Given the description of an element on the screen output the (x, y) to click on. 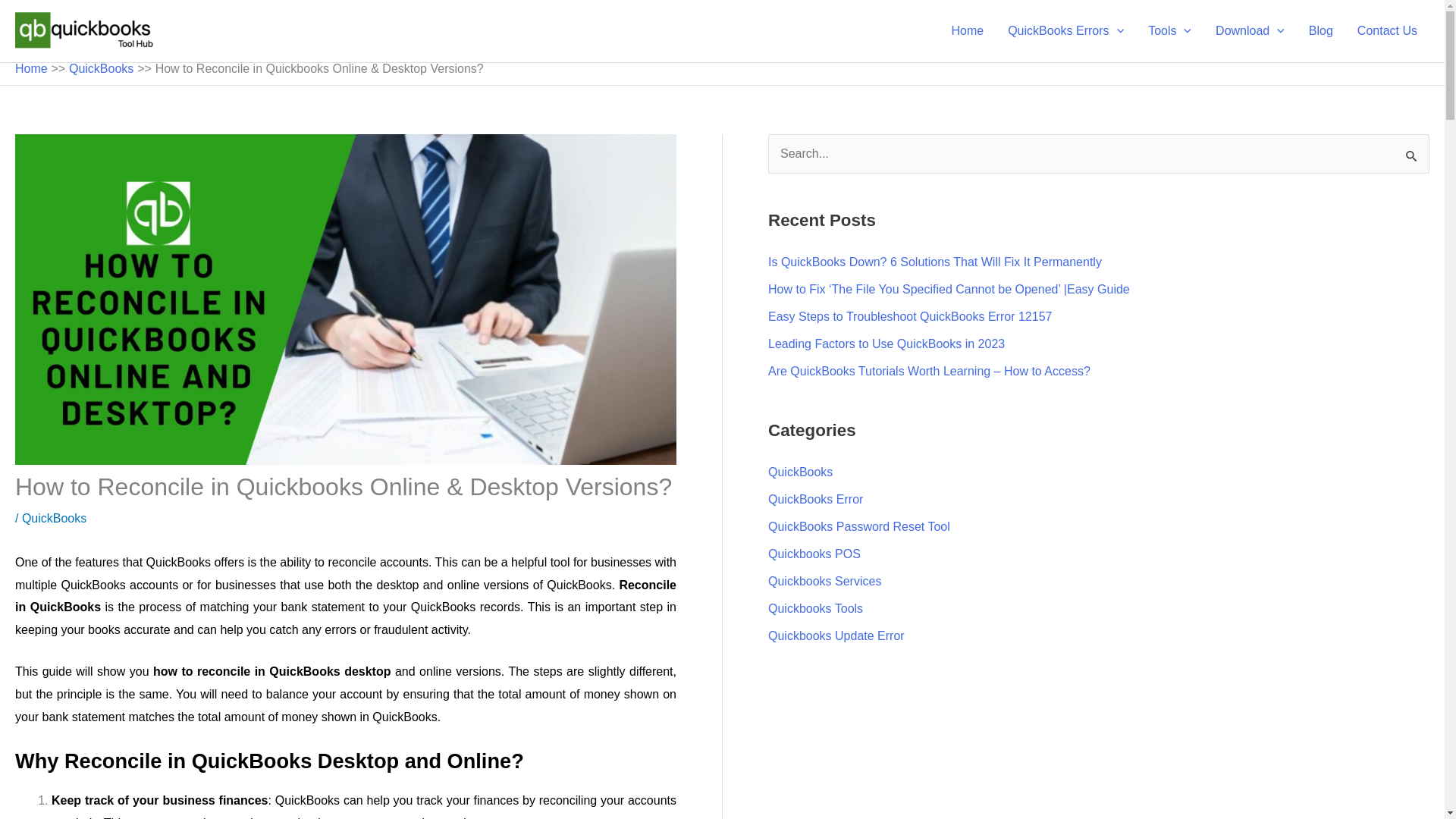
Search (1411, 155)
Home (967, 30)
Search (1411, 155)
QuickBooks Errors (1065, 30)
Download (1250, 30)
Contact Us (1387, 30)
Blog (1321, 30)
Tools (1169, 30)
